Given the description of an element on the screen output the (x, y) to click on. 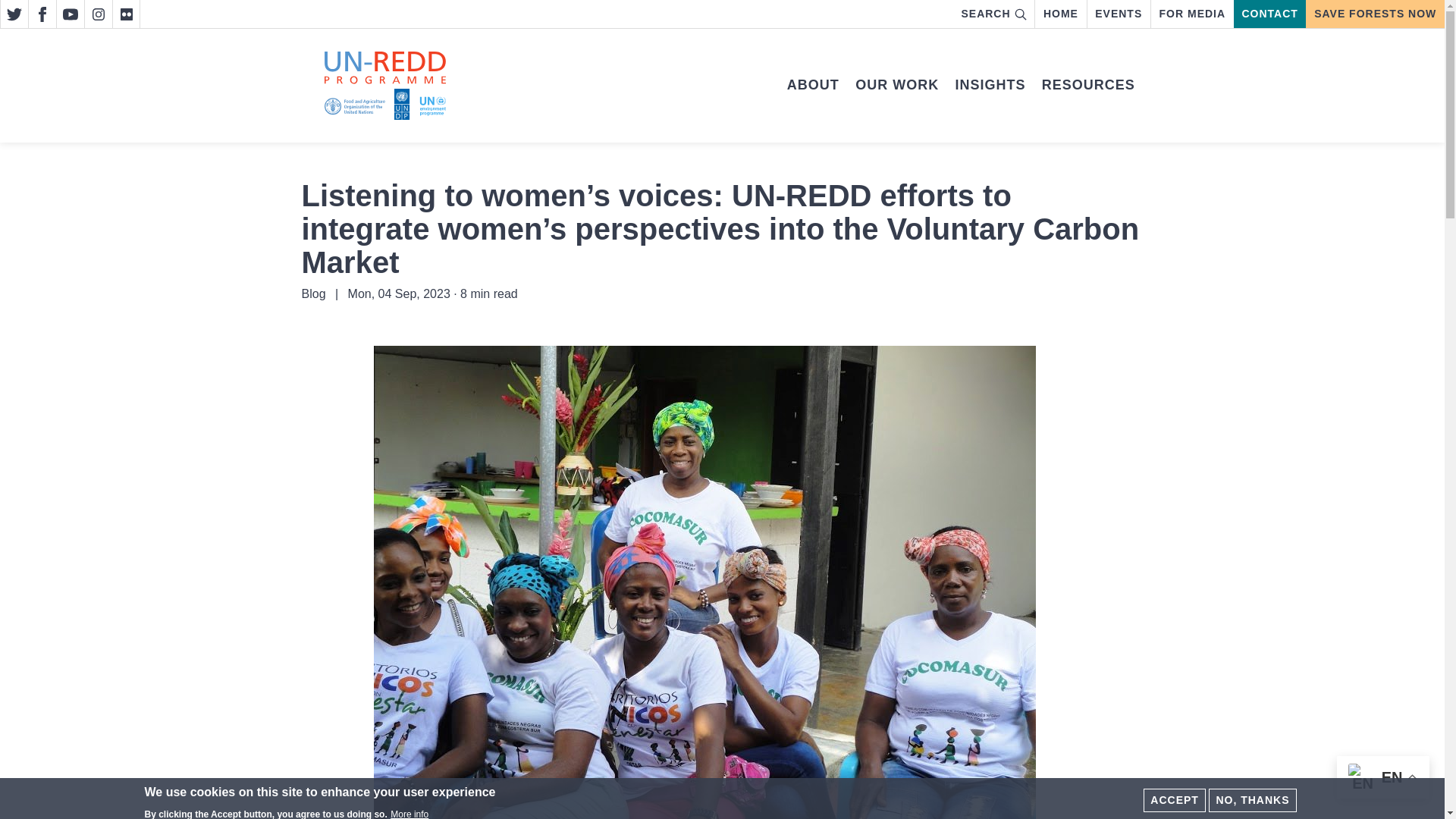
Twitter (13, 13)
ABOUT (812, 84)
OUR WORK (897, 84)
HOME (1060, 13)
Facebook (41, 13)
CONTACT (1269, 13)
Flickr (125, 13)
EVENTS (1119, 13)
SEARCH (994, 13)
